Given the description of an element on the screen output the (x, y) to click on. 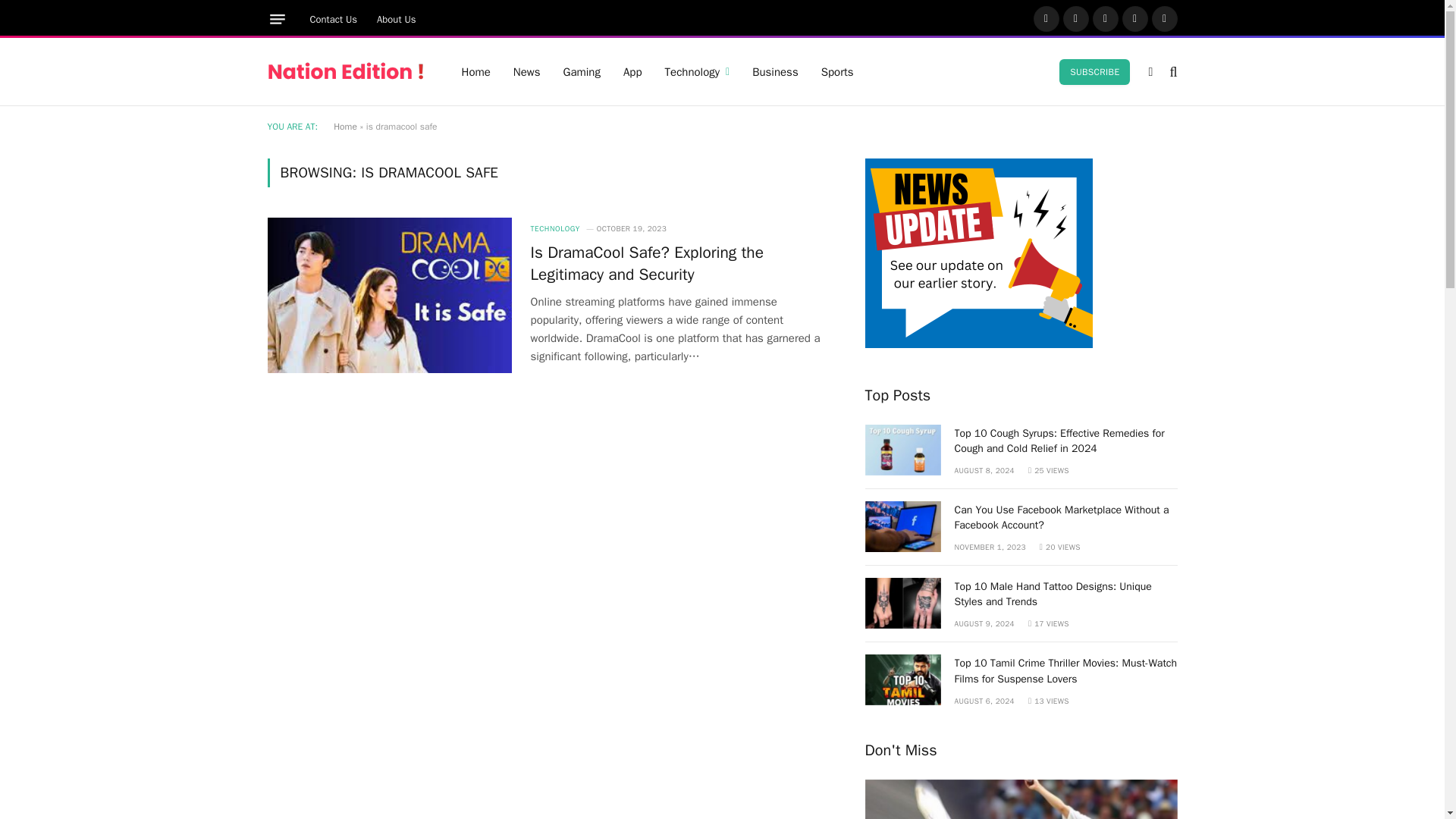
Nation Edition ! (344, 71)
Facebook (1045, 18)
SUBSCRIBE (1094, 71)
Is DramaCool Safe? Exploring the Legitimacy and Security (388, 294)
Switch to Dark Design - easier on eyes. (1149, 70)
Reddit (1163, 18)
Pinterest (1135, 18)
Business (775, 71)
Technology (697, 71)
Contact Us (333, 19)
